Given the description of an element on the screen output the (x, y) to click on. 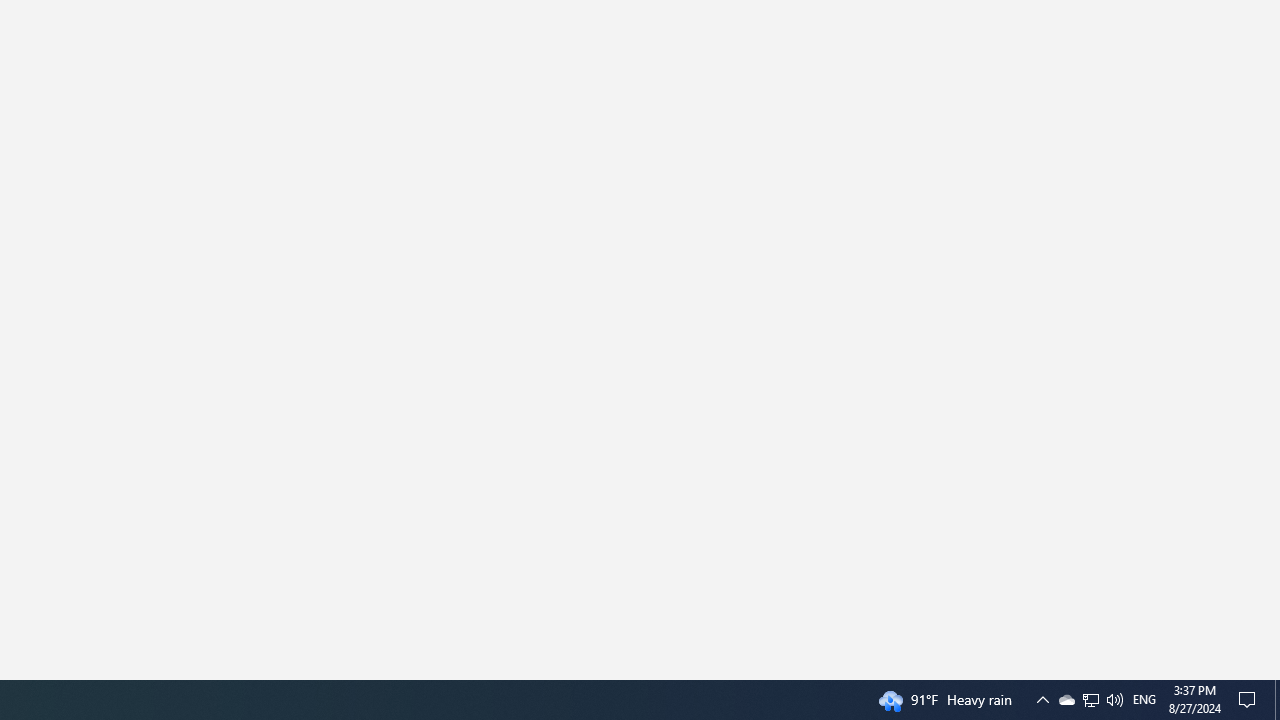
Show desktop (1277, 699)
Vertical Small Increase (1272, 672)
User Promoted Notification Area (1090, 699)
Tray Input Indicator - English (United States) (1144, 699)
Q2790: 100% (1066, 699)
Action Center, No new notifications (1091, 699)
Notification Chevron (1114, 699)
